Given the description of an element on the screen output the (x, y) to click on. 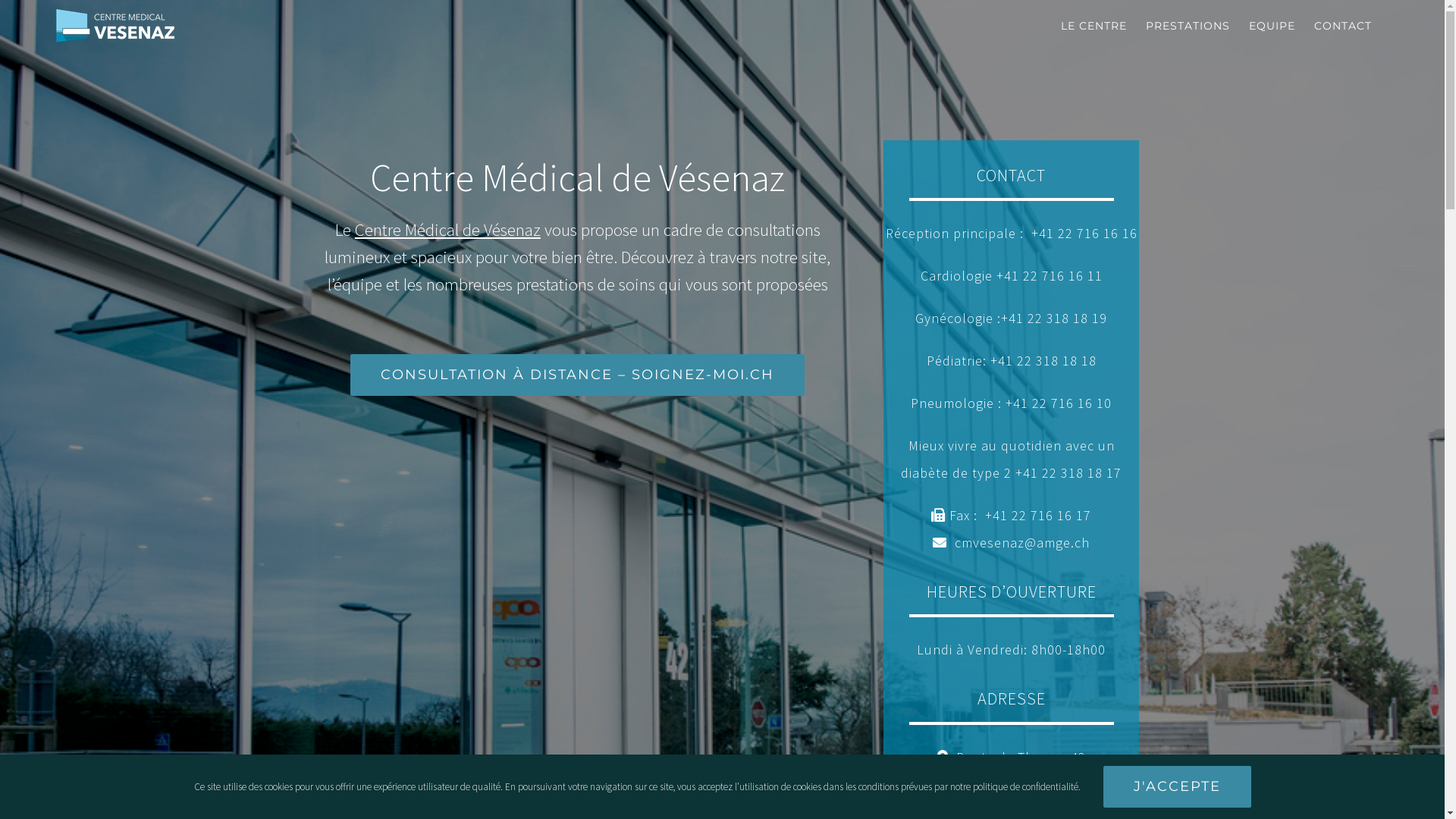
EQUIPE Element type: text (1271, 25)
+41 22 716 16 16 Element type: text (1084, 232)
cmvesenaz@amge.ch Element type: text (1021, 542)
CONTACT Element type: text (1342, 25)
J'ACCEPTE Element type: text (1176, 786)
PRESTATIONS Element type: text (1187, 25)
LE CENTRE Element type: text (1093, 25)
+41 22 716 16 17 Element type: text (1038, 515)
